Given the description of an element on the screen output the (x, y) to click on. 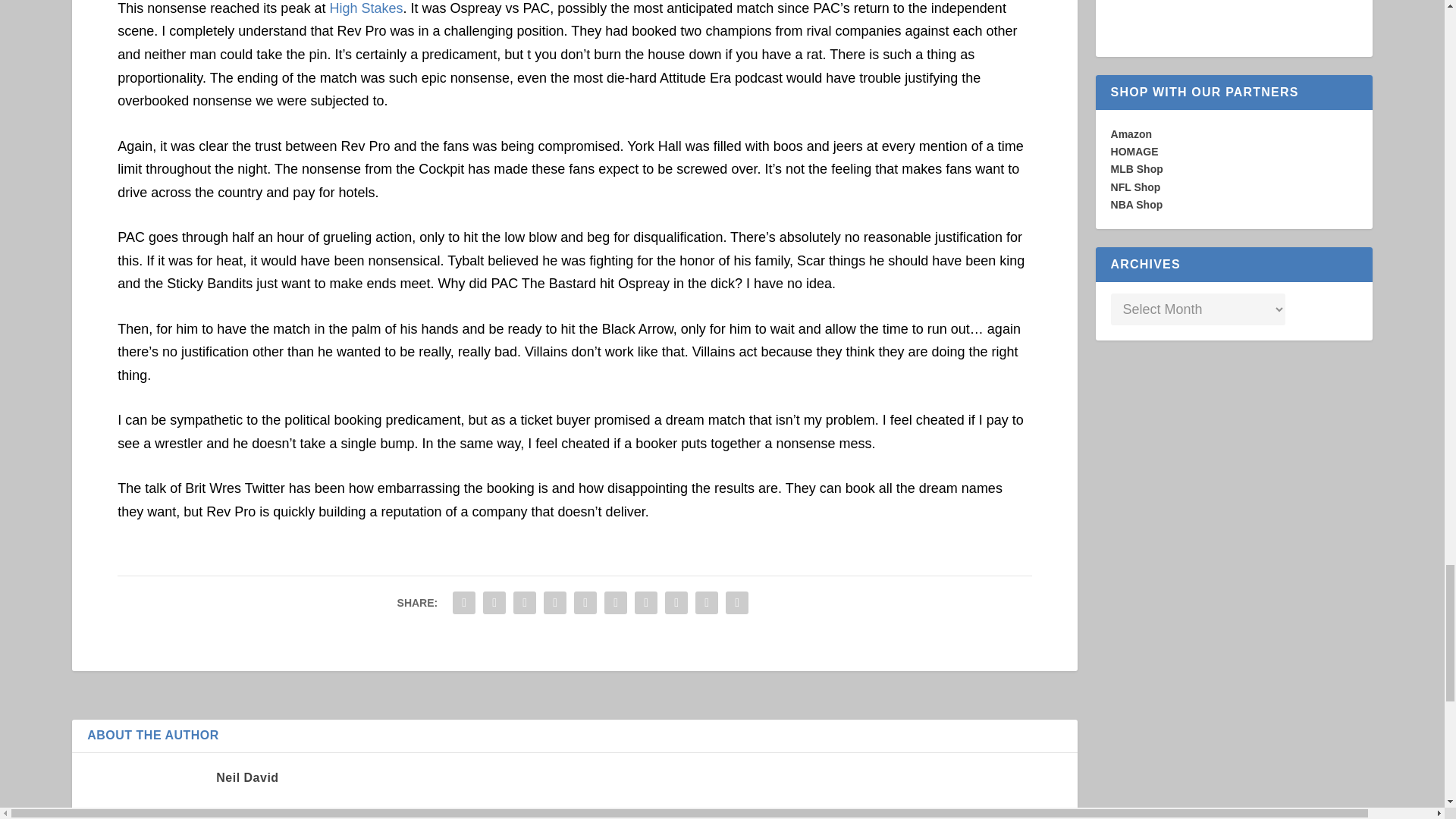
Share "Bowling Alone: Is Rev Pro OK?" via Print (737, 603)
Share "Bowling Alone: Is Rev Pro OK?" via Pinterest (584, 603)
Share "Bowling Alone: Is Rev Pro OK?" via Facebook (463, 603)
View all posts by Neil David (246, 777)
Share "Bowling Alone: Is Rev Pro OK?" via Tumblr (555, 603)
Share "Bowling Alone: Is Rev Pro OK?" via LinkedIn (614, 603)
Share "Bowling Alone: Is Rev Pro OK?" via Twitter (494, 603)
Share "Bowling Alone: Is Rev Pro OK?" via Stumbleupon (676, 603)
Share "Bowling Alone: Is Rev Pro OK?" via Buffer (645, 603)
Share "Bowling Alone: Is Rev Pro OK?" via Email (706, 603)
